Given the description of an element on the screen output the (x, y) to click on. 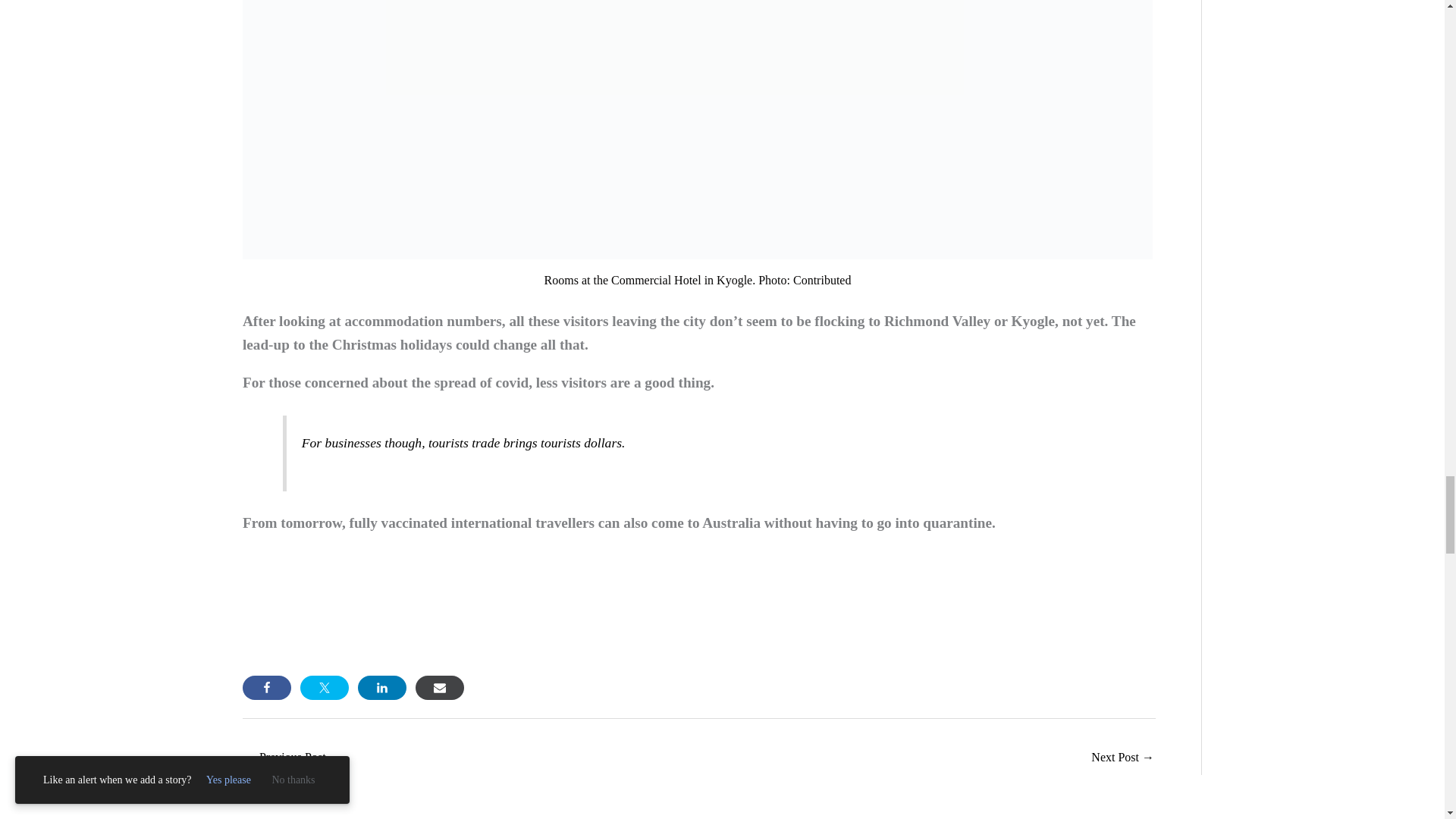
SPOOKY: Did we snap you at Casino's Halloween House? (1122, 758)
Share on LinkedIn (382, 687)
Share on Twitter (324, 687)
Share on Facebook (267, 687)
Share via Email (439, 687)
